Given the description of an element on the screen output the (x, y) to click on. 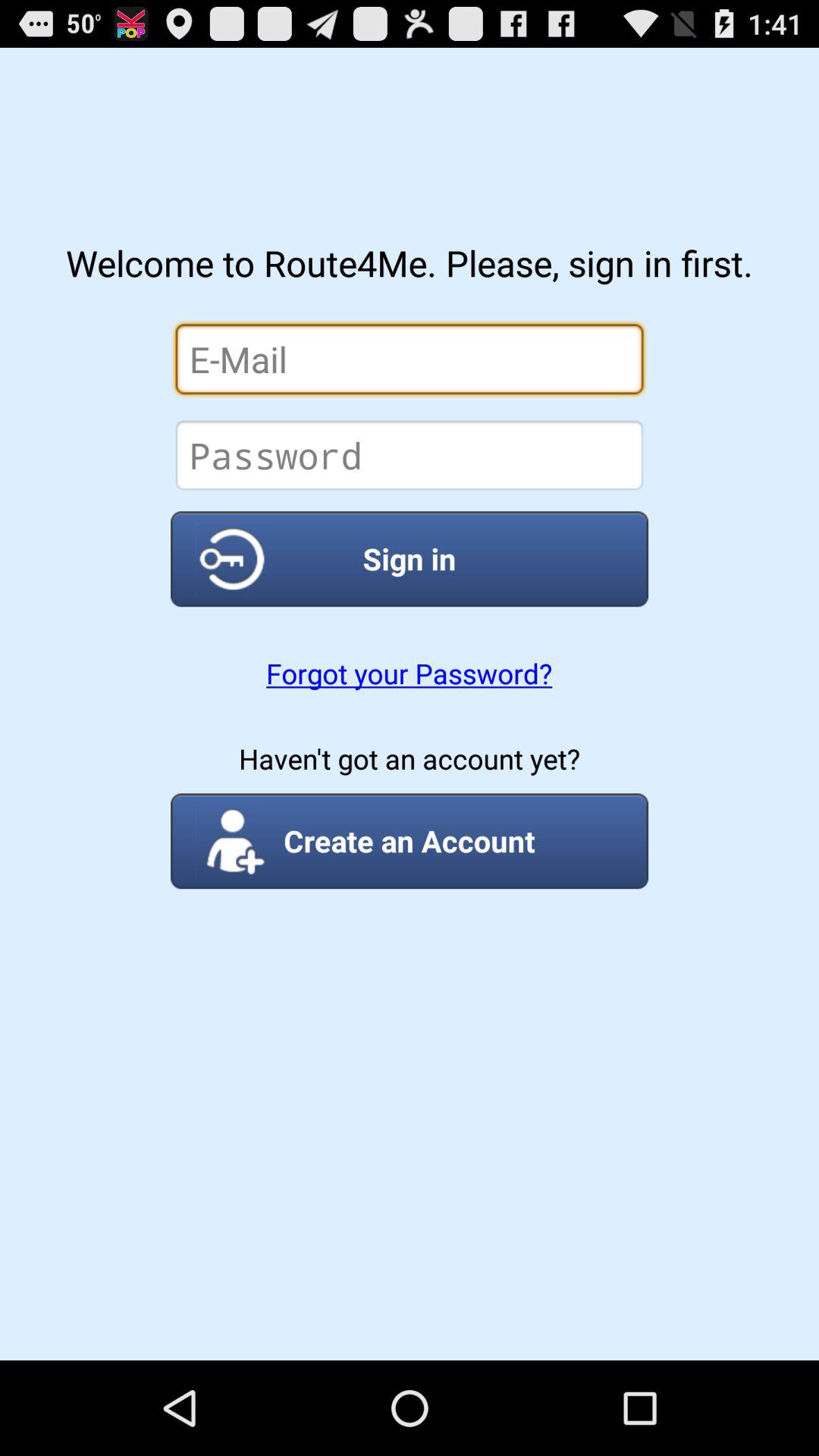
turn on forgot your password? (409, 673)
